Given the description of an element on the screen output the (x, y) to click on. 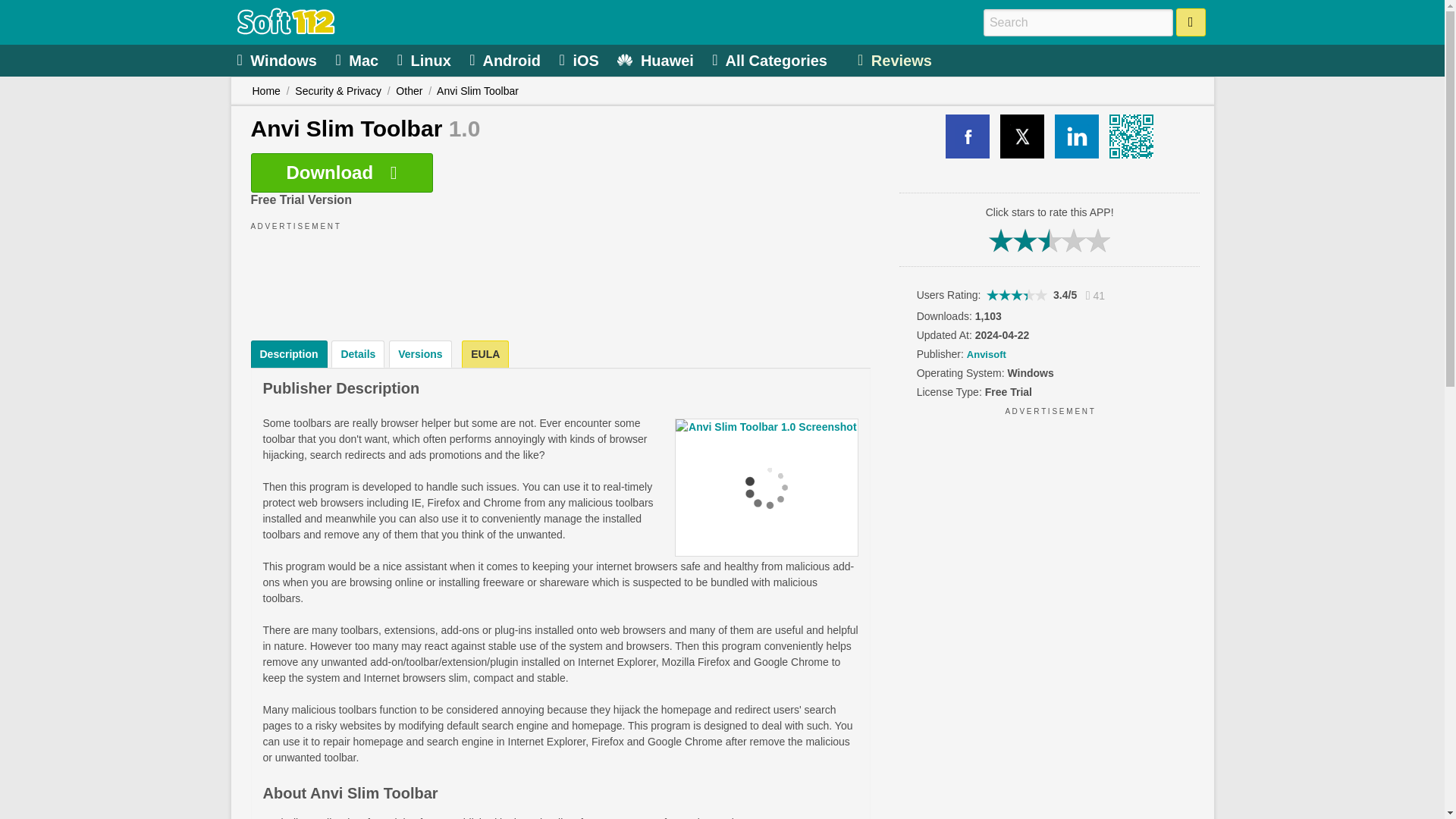
Android (506, 59)
Download (341, 172)
Mac (357, 59)
Reviews (896, 59)
Anvi Slim Toolbar 1.0 Screenshot - 1 of 1 (767, 487)
Get the QRCode (1131, 136)
Anvisoft (986, 354)
Description (288, 353)
Search (1190, 22)
Home (265, 91)
